Given the description of an element on the screen output the (x, y) to click on. 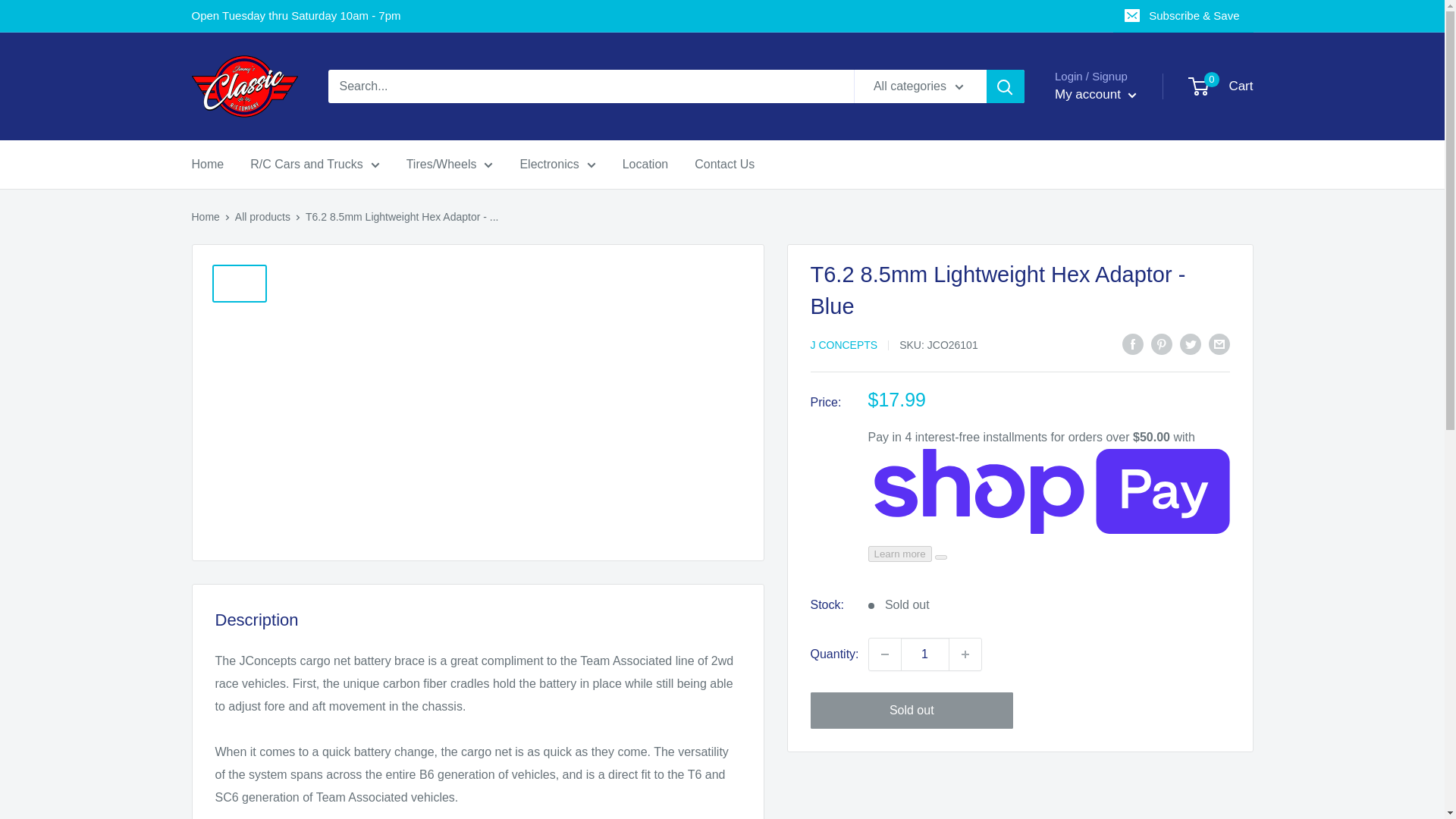
Decrease quantity by 1 (885, 654)
Increase quantity by 1 (965, 654)
1 (925, 654)
